Given the description of an element on the screen output the (x, y) to click on. 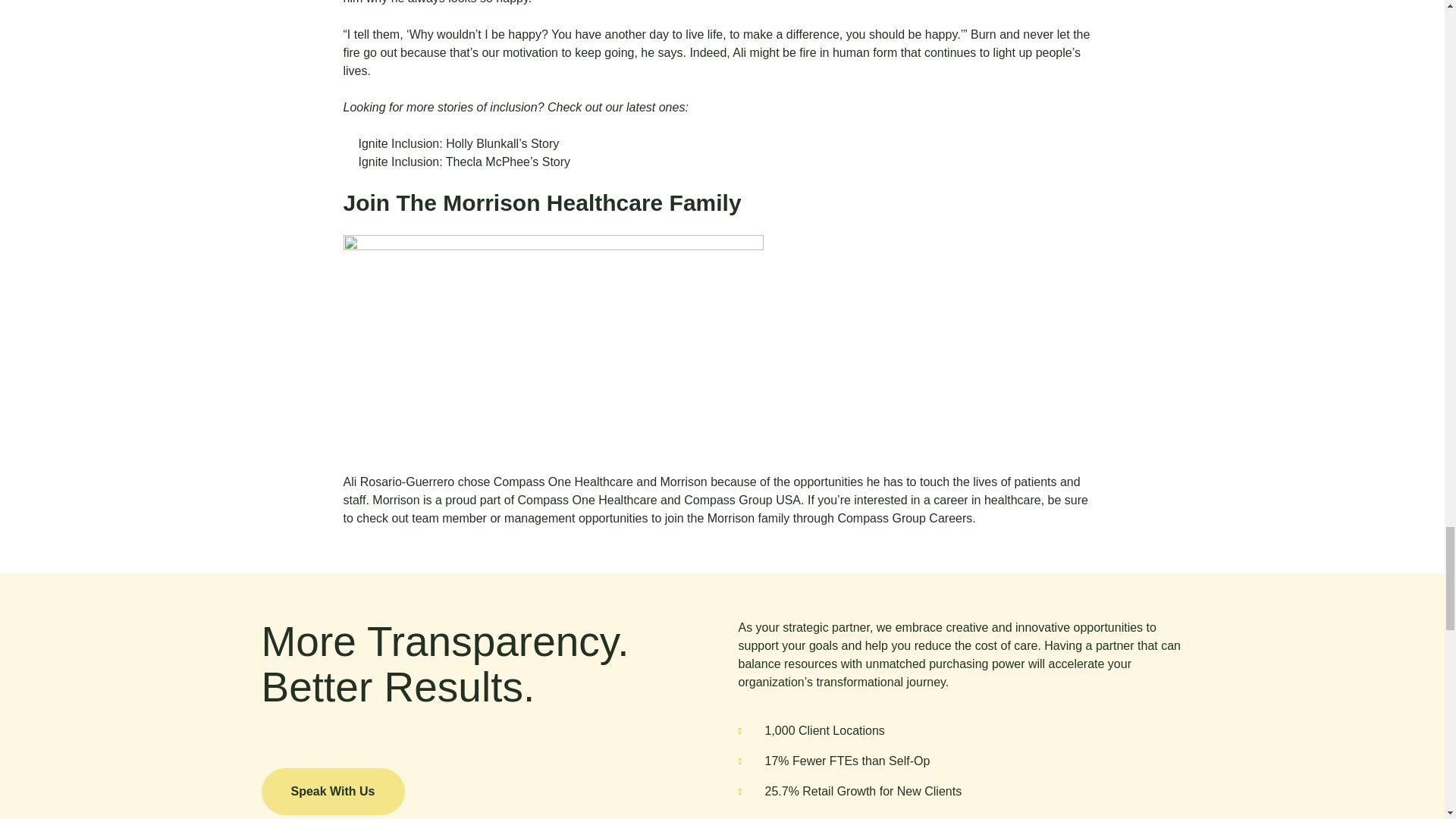
Speak With Us (332, 791)
Compass One Healthcare (565, 481)
management (539, 517)
team member (449, 517)
opportunities (828, 481)
Compass Group USA (742, 499)
Morrison (684, 481)
